Given the description of an element on the screen output the (x, y) to click on. 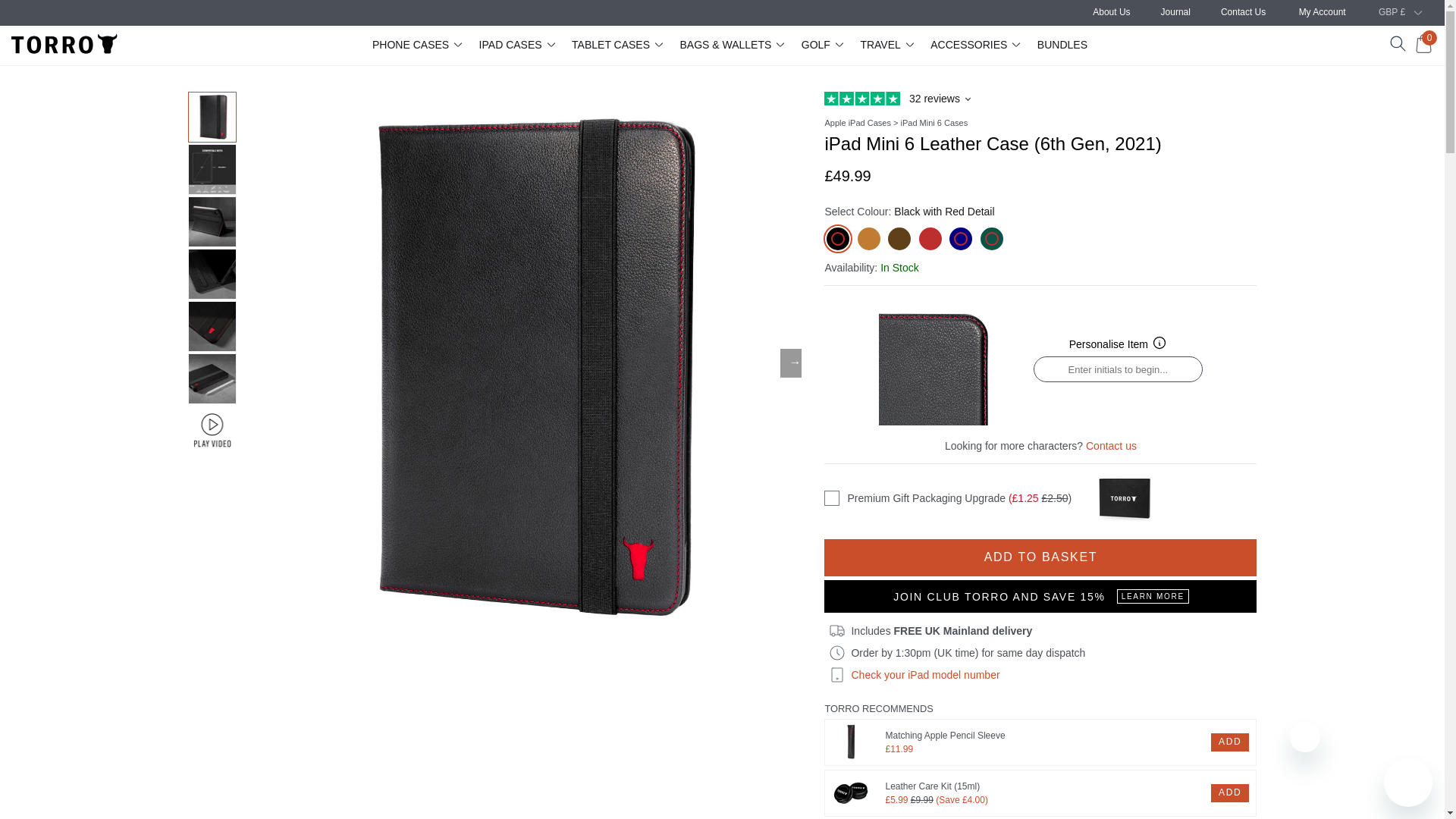
My Account (1321, 11)
Journal (1175, 11)
PHONE CASES (419, 44)
Contact Us (1243, 11)
Customer reviews powered by Trustpilot (1040, 99)
Search for the product you need (1398, 43)
View your shopping basket (1422, 43)
